Given the description of an element on the screen output the (x, y) to click on. 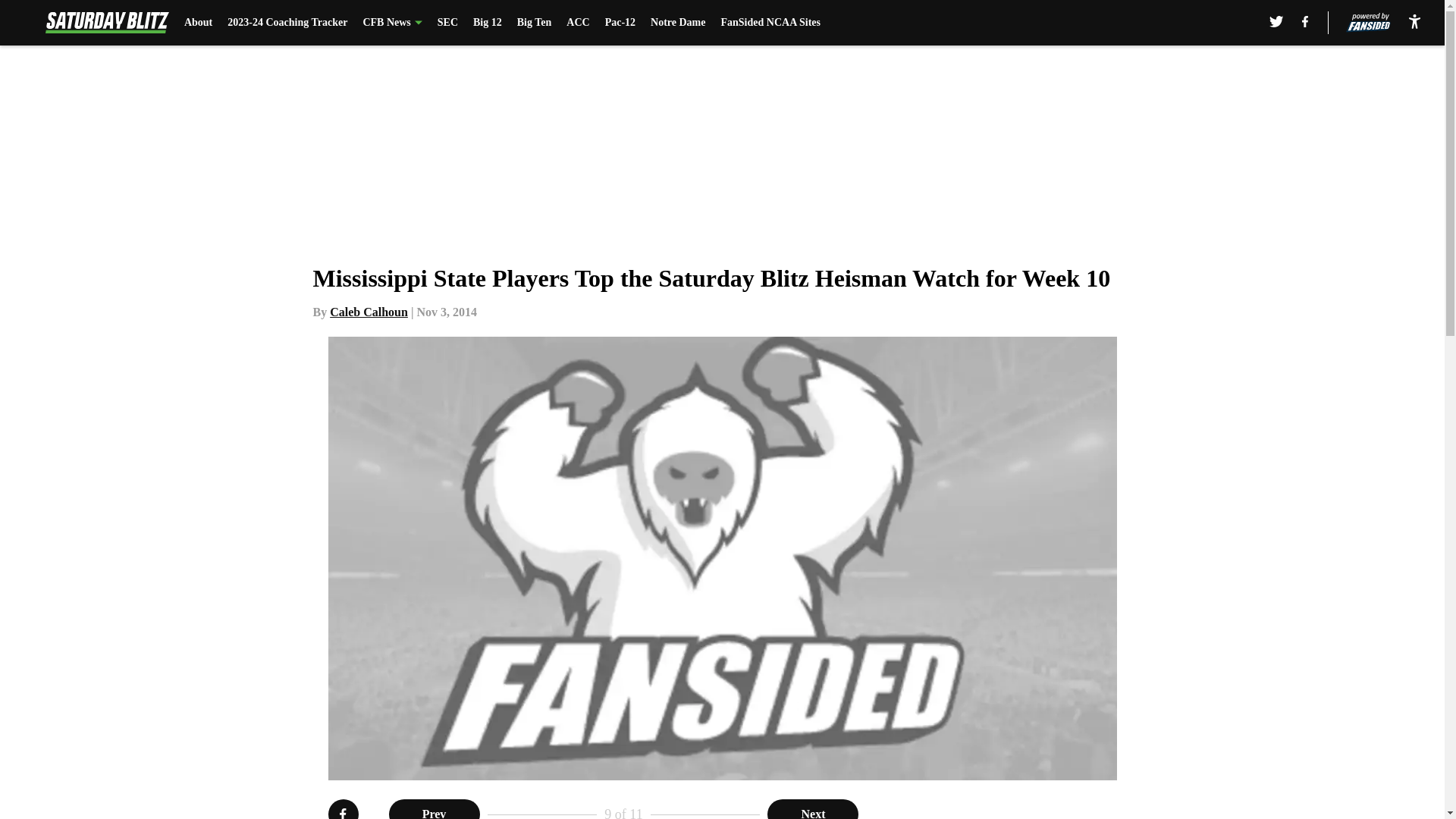
FanSided NCAA Sites (769, 22)
Notre Dame (677, 22)
Prev (433, 809)
Big 12 (487, 22)
2023-24 Coaching Tracker (287, 22)
ACC (577, 22)
Big Ten (533, 22)
Pac-12 (619, 22)
Next (813, 809)
About (198, 22)
SEC (448, 22)
Caleb Calhoun (368, 311)
